Given the description of an element on the screen output the (x, y) to click on. 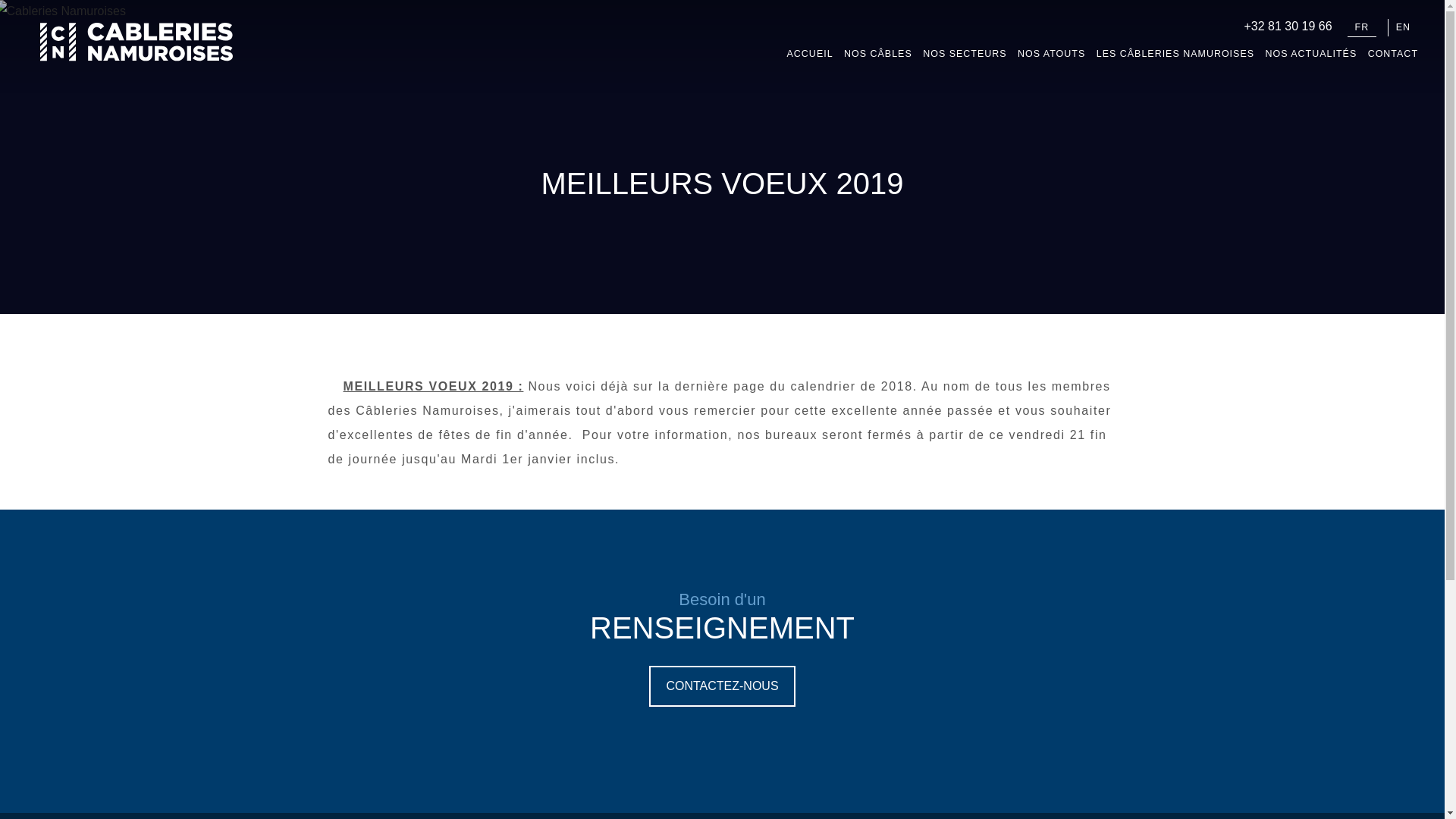
FR Element type: text (1362, 27)
NOS ATOUTS Element type: text (1051, 59)
EN Element type: text (1402, 27)
CONTACT Element type: text (1393, 59)
NOS SECTEURS Element type: text (964, 59)
Aller au contenu principal Element type: text (68, 0)
CONTACTEZ-NOUS Element type: text (721, 685)
ACCUEIL Element type: text (810, 59)
